Given the description of an element on the screen output the (x, y) to click on. 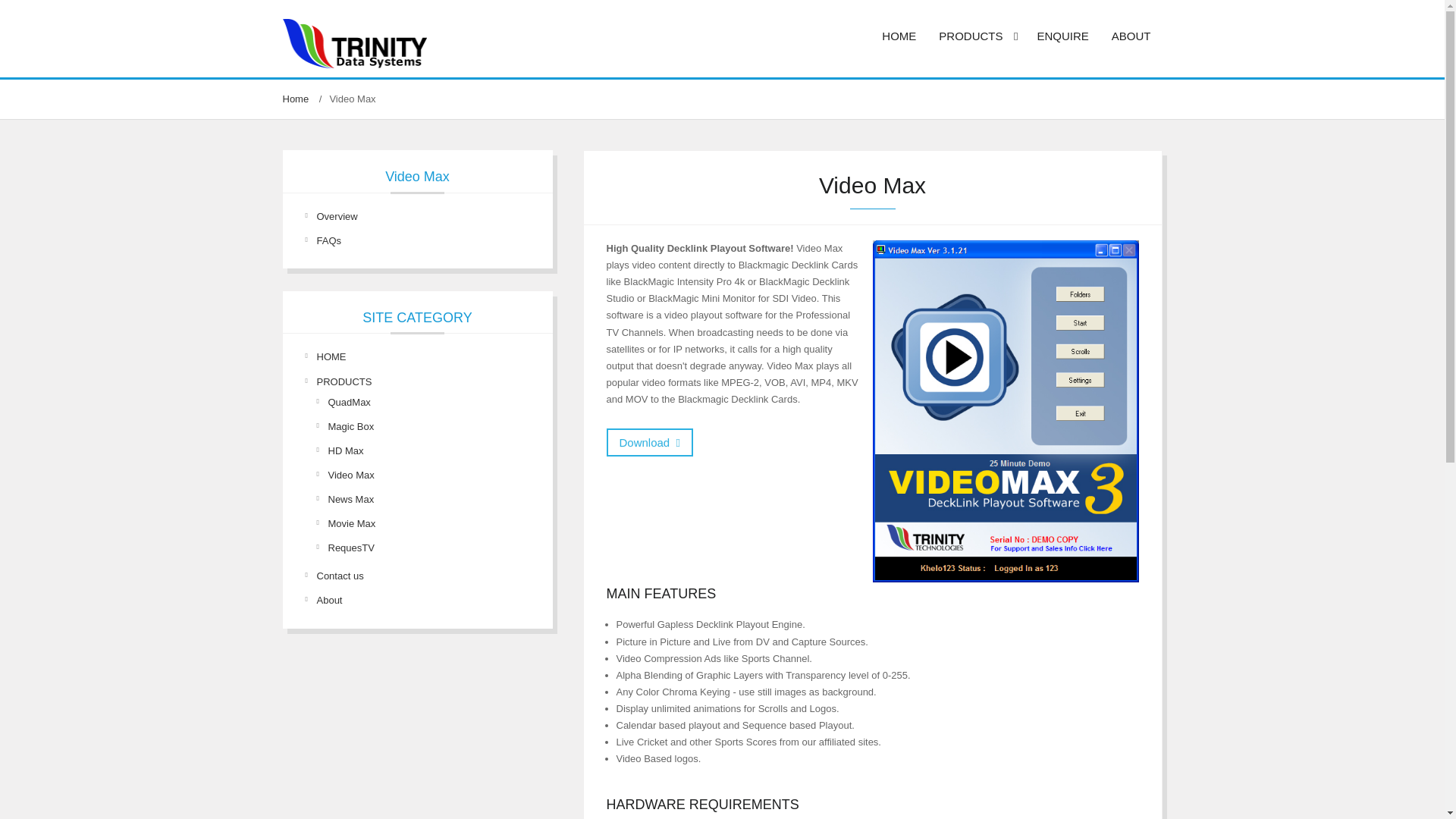
Home (296, 98)
ABOUT (1130, 36)
FAQs (329, 240)
PRODUCTS (344, 381)
ENQUIRE (1062, 36)
Magic Box (350, 426)
HOME (331, 356)
Overview (337, 215)
QuadMax (348, 401)
HOME (898, 36)
PRODUCTS (976, 36)
HD Max (344, 450)
Download   (650, 442)
